Given the description of an element on the screen output the (x, y) to click on. 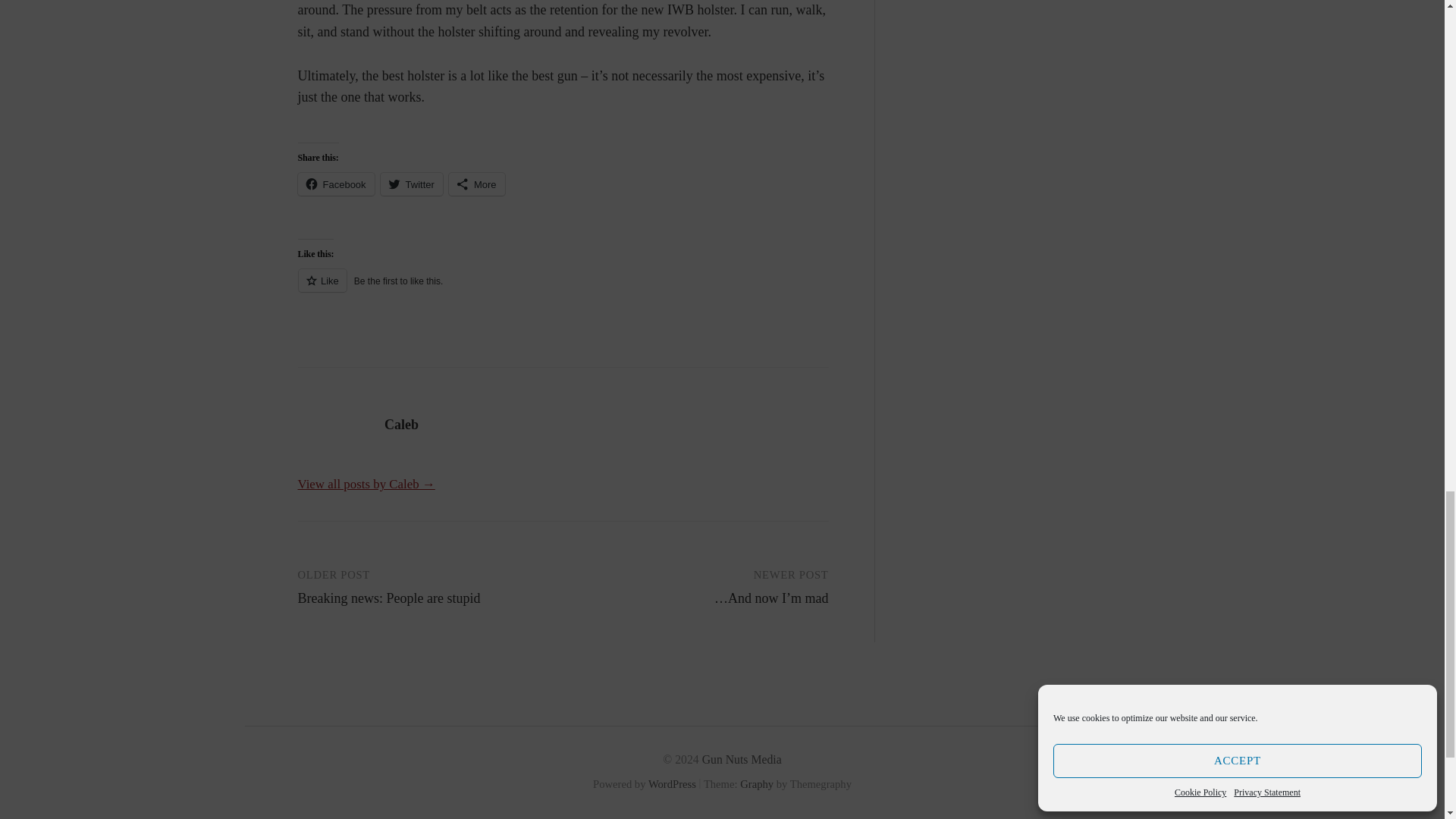
Click to share on Facebook (335, 183)
Facebook (335, 183)
Like or Reblog (562, 289)
Twitter (411, 183)
Click to share on Twitter (411, 183)
Breaking news: People are stupid (388, 598)
More (476, 183)
